Given the description of an element on the screen output the (x, y) to click on. 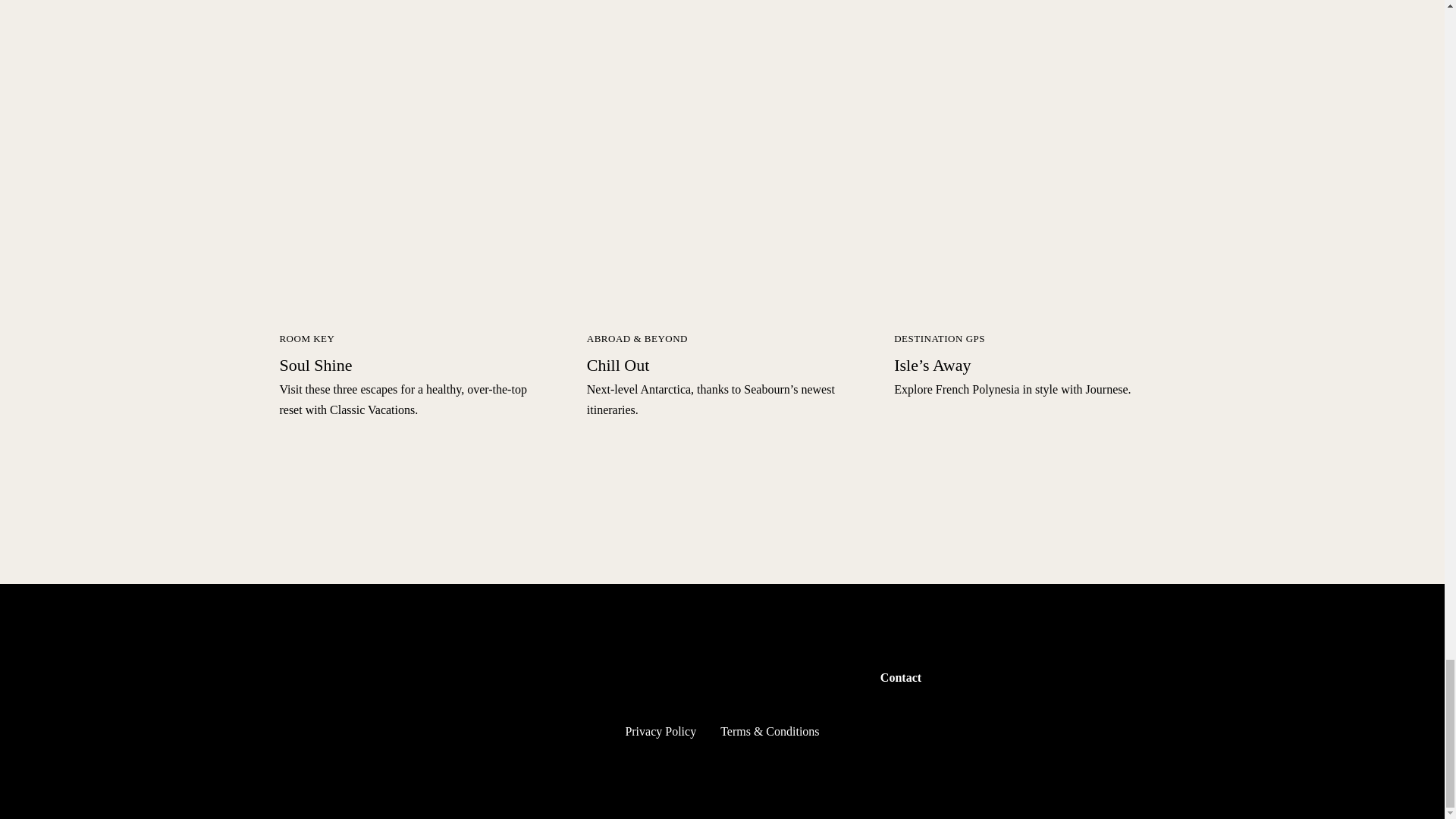
Chill Out (617, 364)
Privacy Policy (659, 730)
Soul Shine (315, 364)
